Given the description of an element on the screen output the (x, y) to click on. 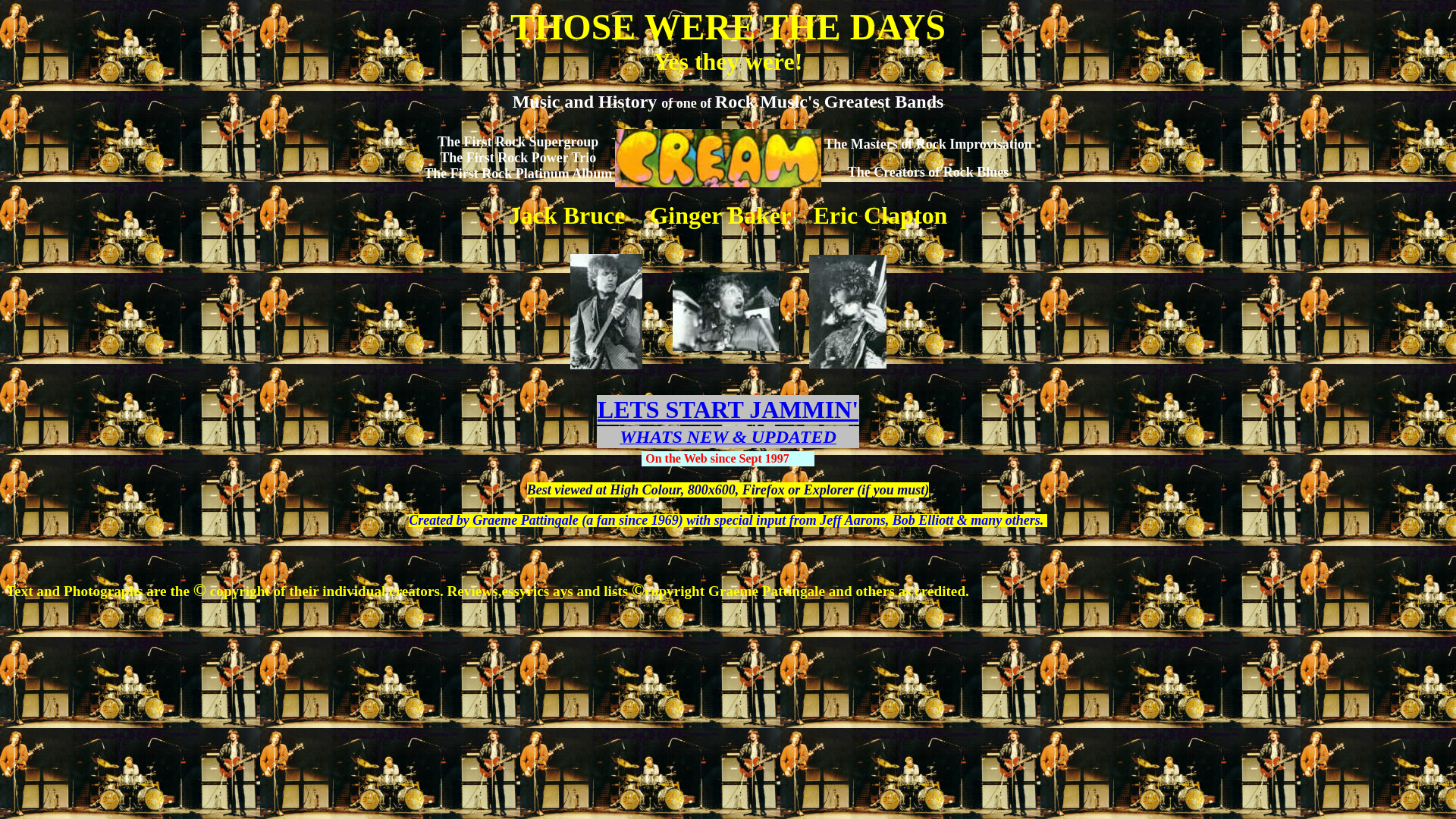
WHATS NEW & UPDATED Element type: text (727, 438)
LETS START JAMMIN' Element type: text (727, 409)
